Given the description of an element on the screen output the (x, y) to click on. 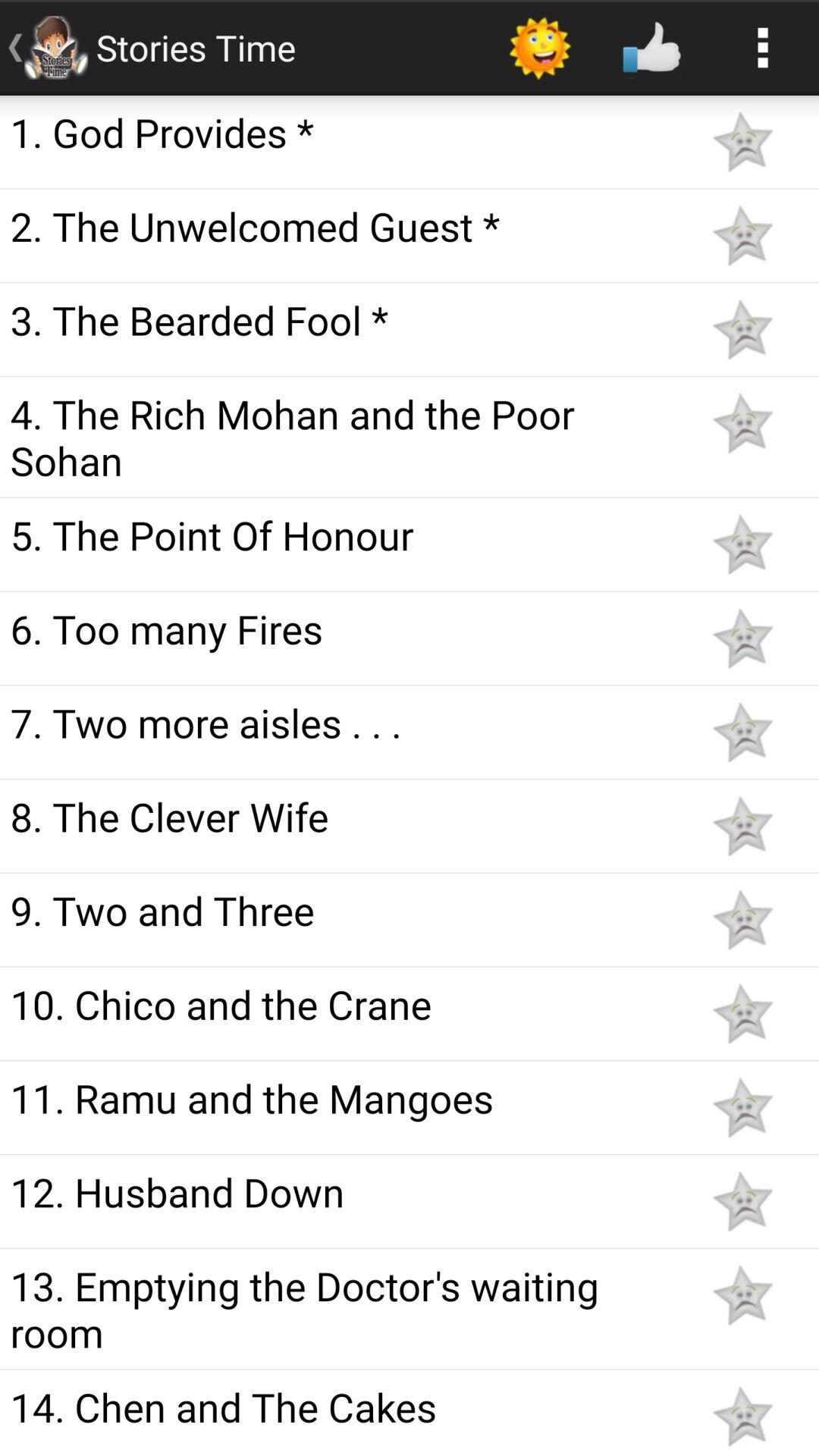
include favorites (742, 1107)
